Given the description of an element on the screen output the (x, y) to click on. 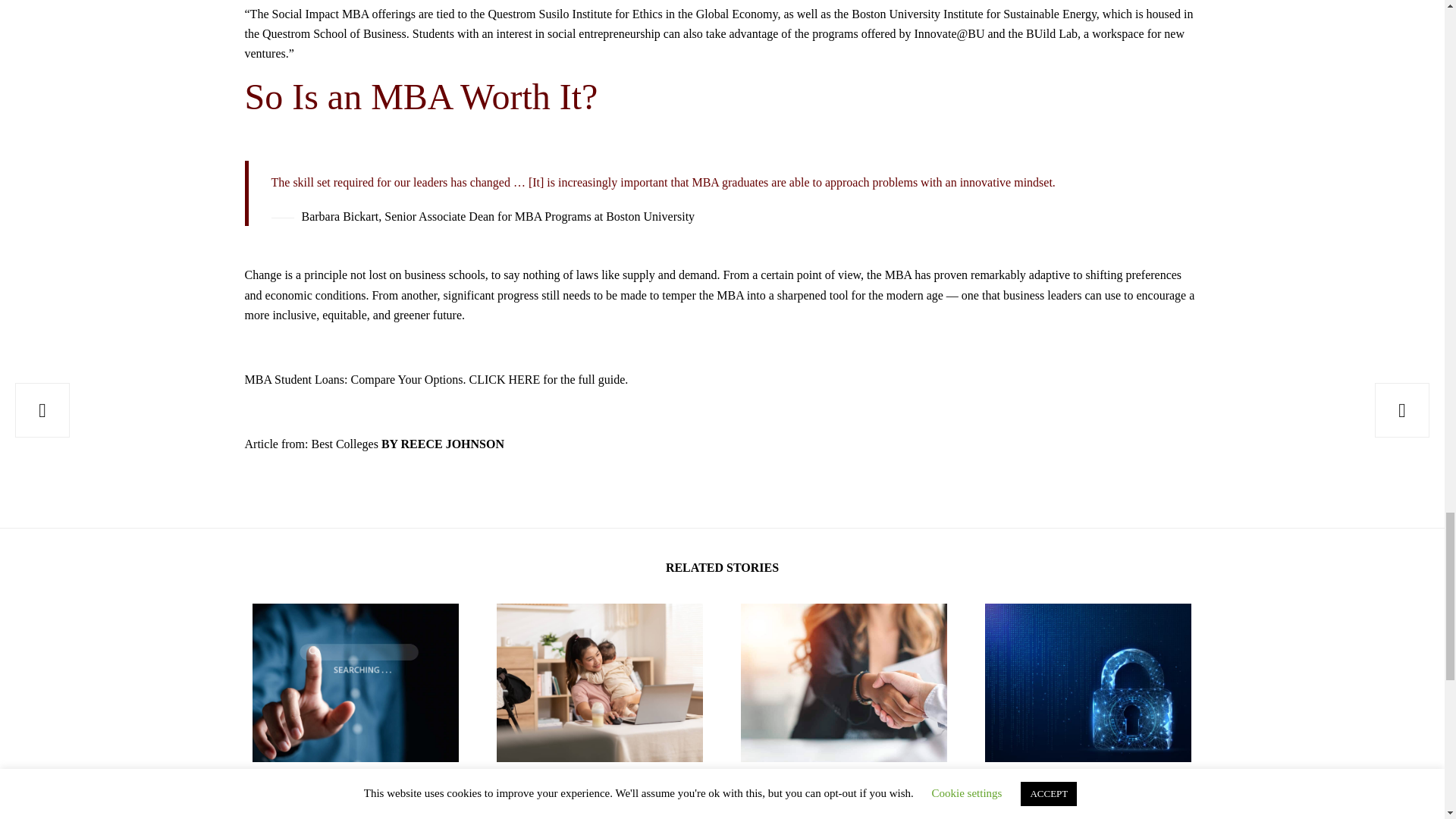
Searching for a Job in a Weak Market (353, 796)
Cybersecurity Jobs: Why You Must Never Lie on Your Resume (1080, 798)
How to Dress for the Job You Want (842, 682)
Working Mothers: Pros and Cons (596, 796)
Working Mothers: Pros and Cons (598, 682)
Searching for a Job in a Weak Market (354, 682)
Cybersecurity Jobs: Why You Must Never Lie on Your Resume (1087, 682)
How to Dress for the Job You Want (832, 796)
